Given the description of an element on the screen output the (x, y) to click on. 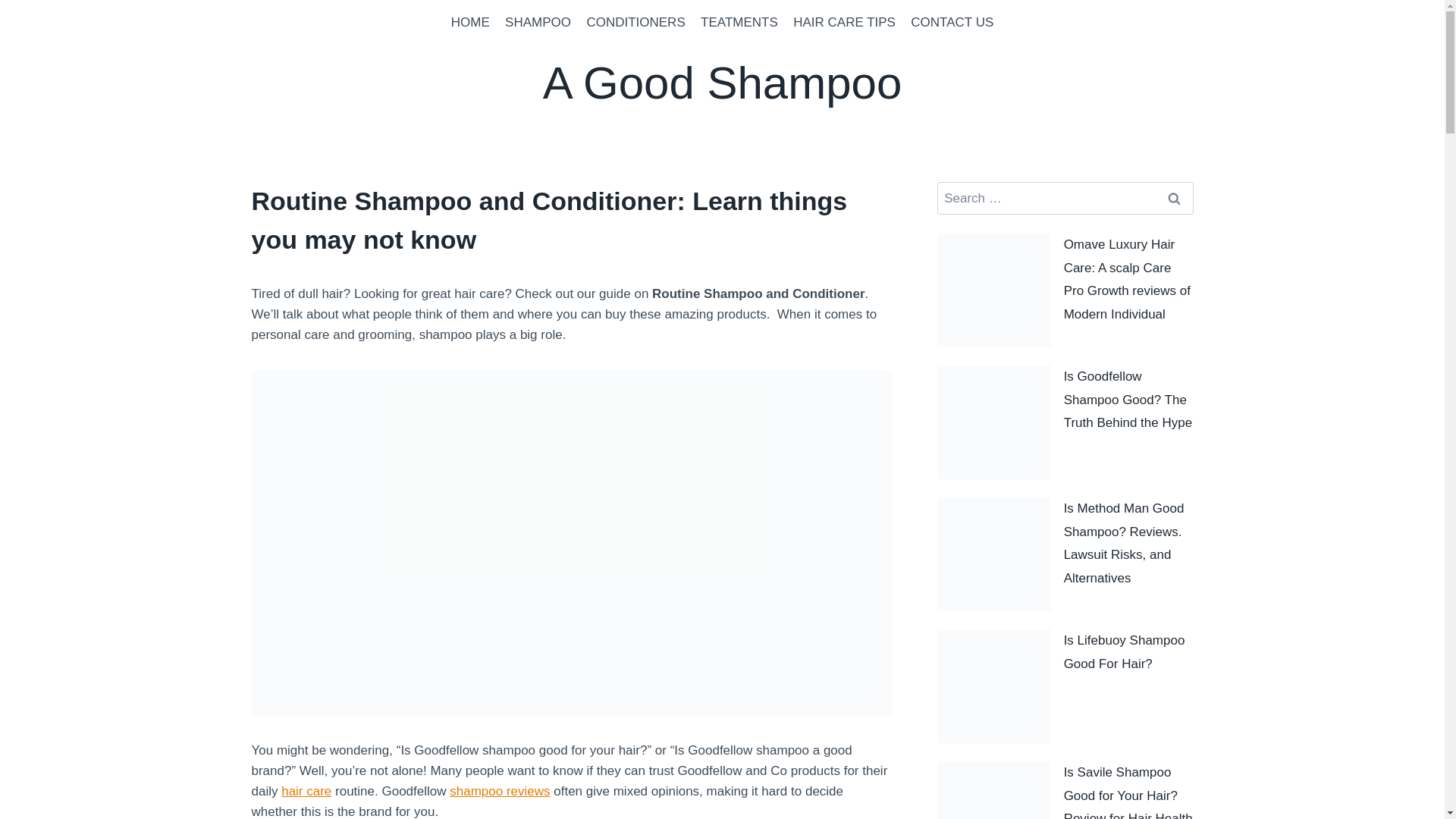
Search (1174, 197)
HOME (470, 22)
A Good Shampoo (722, 83)
HAIR CARE TIPS (844, 22)
hair care (306, 790)
TEATMENTS (739, 22)
CONDITIONERS (635, 22)
shampoo reviews (499, 790)
Search (1174, 197)
